Given the description of an element on the screen output the (x, y) to click on. 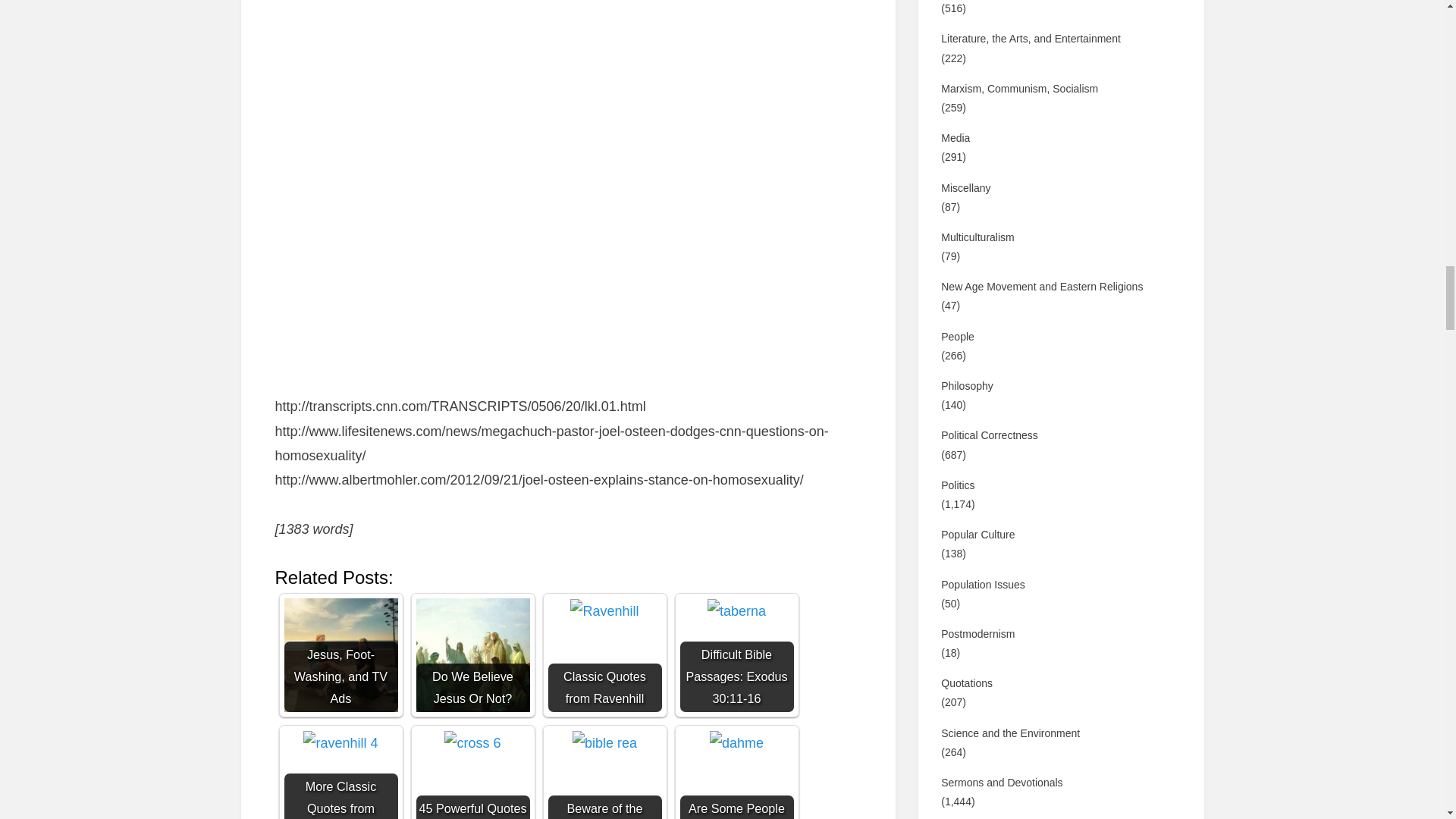
Classic Quotes from Ravenhill (604, 654)
Do We Believe Jesus Or Not? (471, 654)
Difficult Bible Passages: Exodus 30:11-16 (736, 654)
45 Powerful Quotes on the Cross (472, 743)
Beware of the Familiar (604, 743)
Beware of the Familiar (604, 774)
Jesus, Foot-Washing, and TV Ads (340, 654)
Are Some People Beyond Salvation? (736, 743)
Do We Believe Jesus Or Not? (471, 654)
Jesus, Foot-Washing, and TV Ads (340, 654)
